Given the description of an element on the screen output the (x, y) to click on. 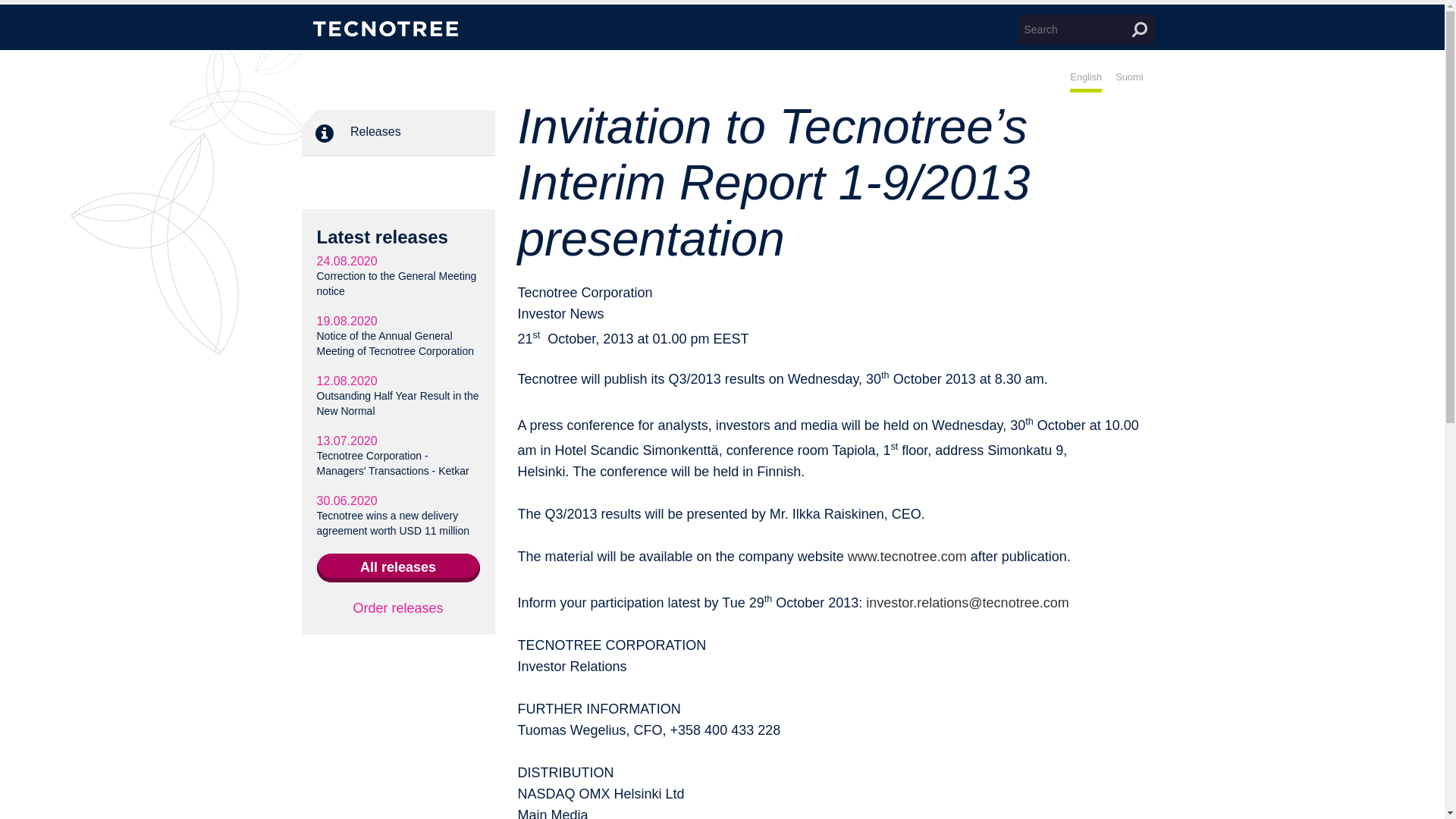
Tecnotree wins a new delivery agreement worth USD 11 million (393, 523)
www.tecnotree.com (906, 556)
Tecnotree (385, 28)
Search (1139, 29)
Releases (398, 132)
Suomi (1128, 81)
Tecnotree Corporation - Managers' Transactions - Ketkar (392, 462)
Order releases (397, 607)
Releases (323, 133)
Outsanding Half Year Result in the New Normal (398, 402)
English (1086, 81)
Search (1139, 29)
All releases (398, 567)
Correction to the General Meeting notice (397, 283)
